Given the description of an element on the screen output the (x, y) to click on. 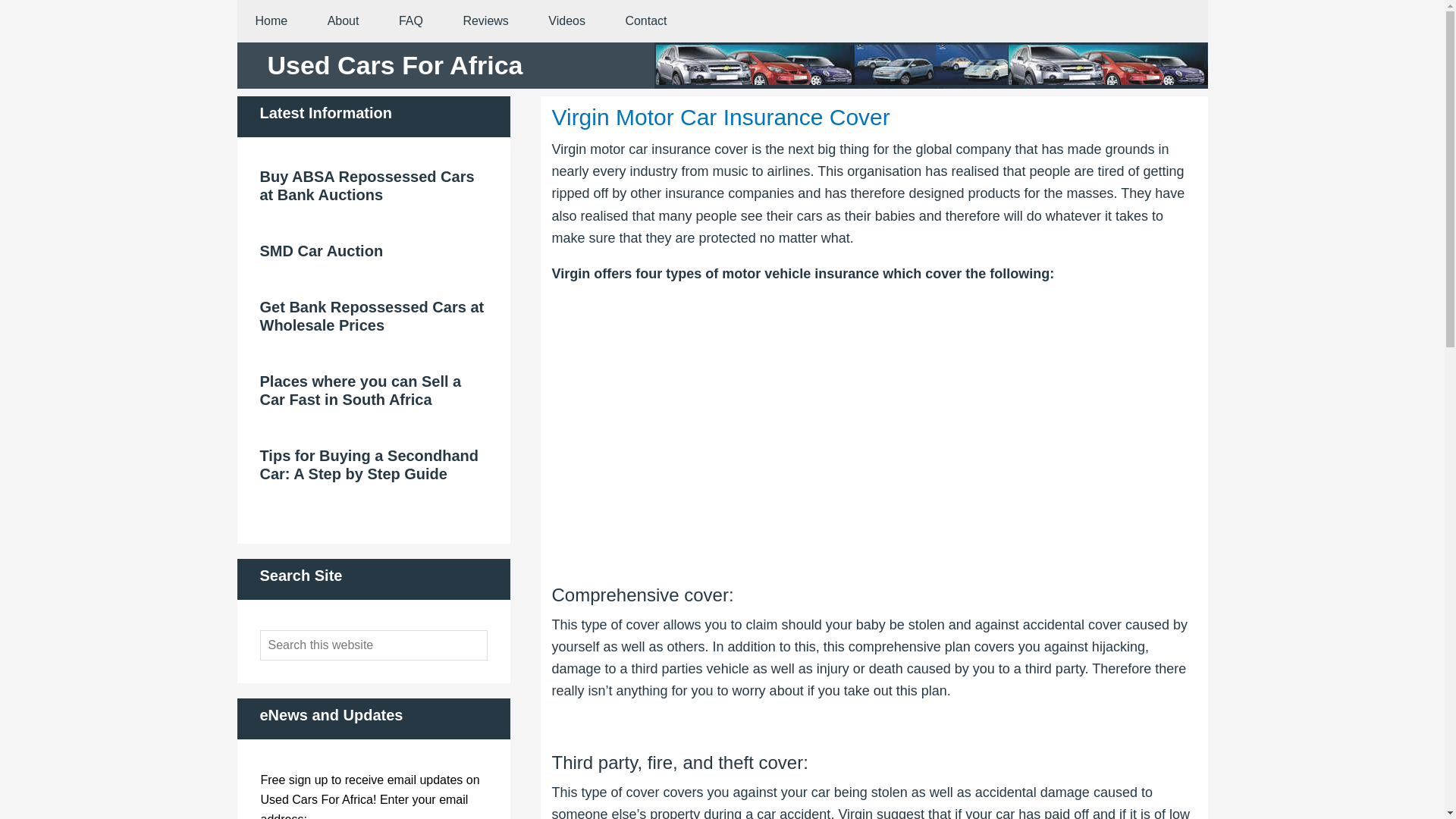
About (342, 21)
Reviews (484, 21)
Used Cars For Africa (394, 64)
Contact (645, 21)
Home (270, 21)
SMD Car Auction (320, 250)
Buy ABSA Repossessed Cars at Bank Auctions (366, 185)
Videos (566, 21)
Tips for Buying a Secondhand Car: A Step by Step Guide (369, 464)
Get Bank Repossessed Cars at Wholesale Prices (371, 315)
Places where you can Sell a Car Fast in South Africa (360, 390)
FAQ (410, 21)
